Given the description of an element on the screen output the (x, y) to click on. 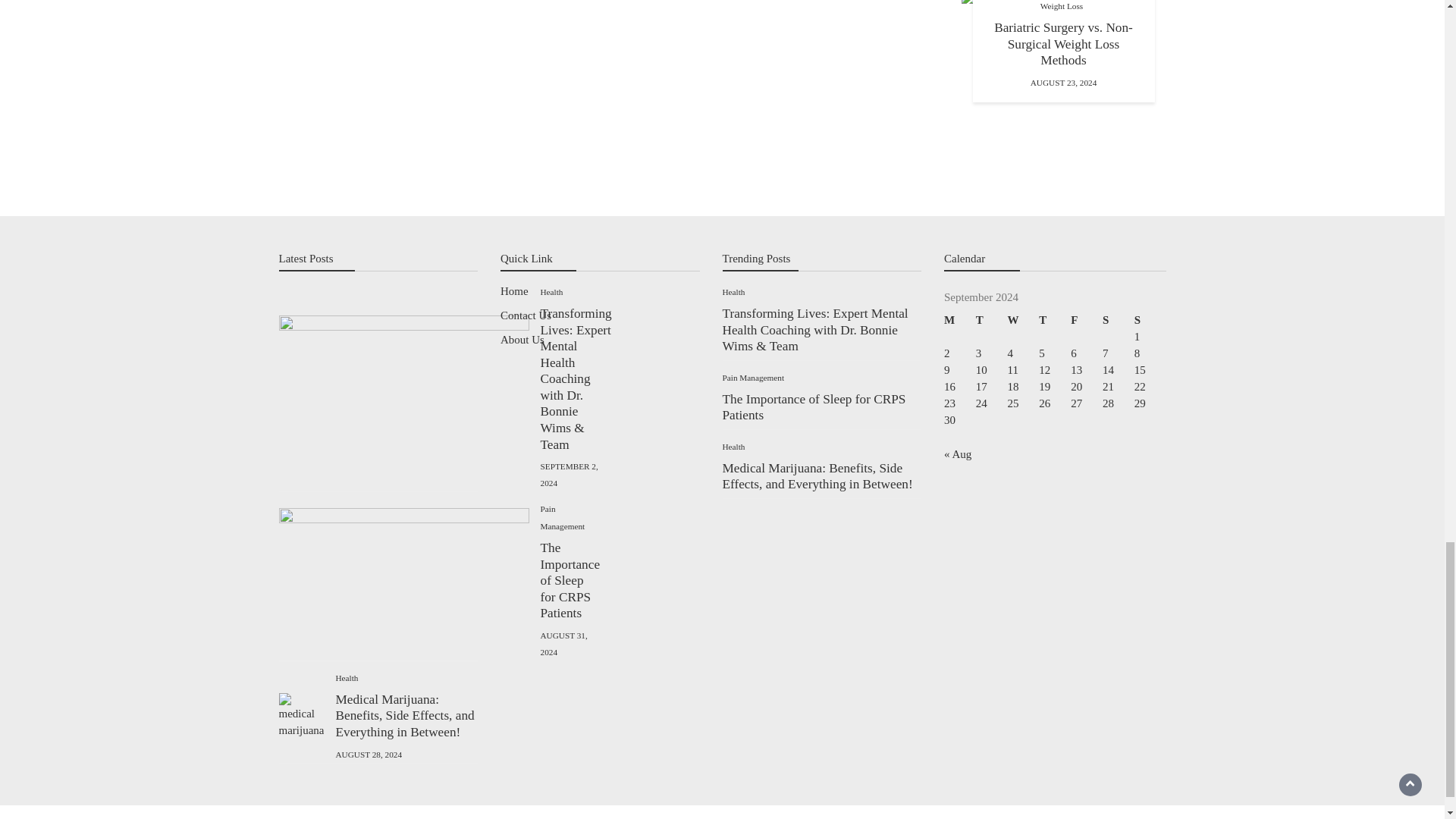
Monday (959, 320)
Thursday (1054, 320)
Saturday (1118, 320)
Wednesday (1023, 320)
Friday (1086, 320)
Tuesday (991, 320)
Sunday (1150, 320)
